Given the description of an element on the screen output the (x, y) to click on. 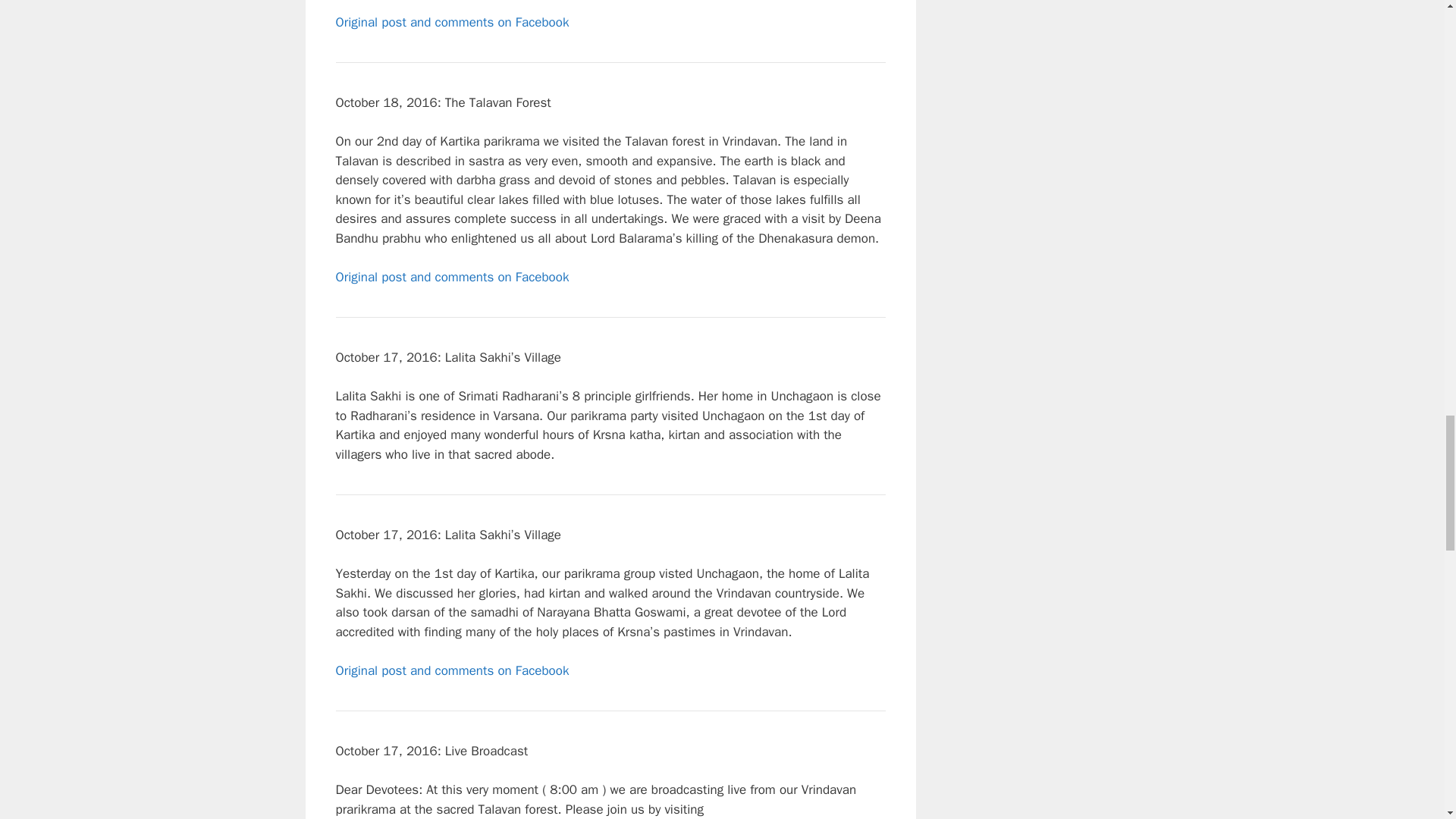
Original post and comments on Facebook (451, 276)
Original post and comments on Facebook (451, 670)
Original post and comments on Facebook (451, 21)
